Given the description of an element on the screen output the (x, y) to click on. 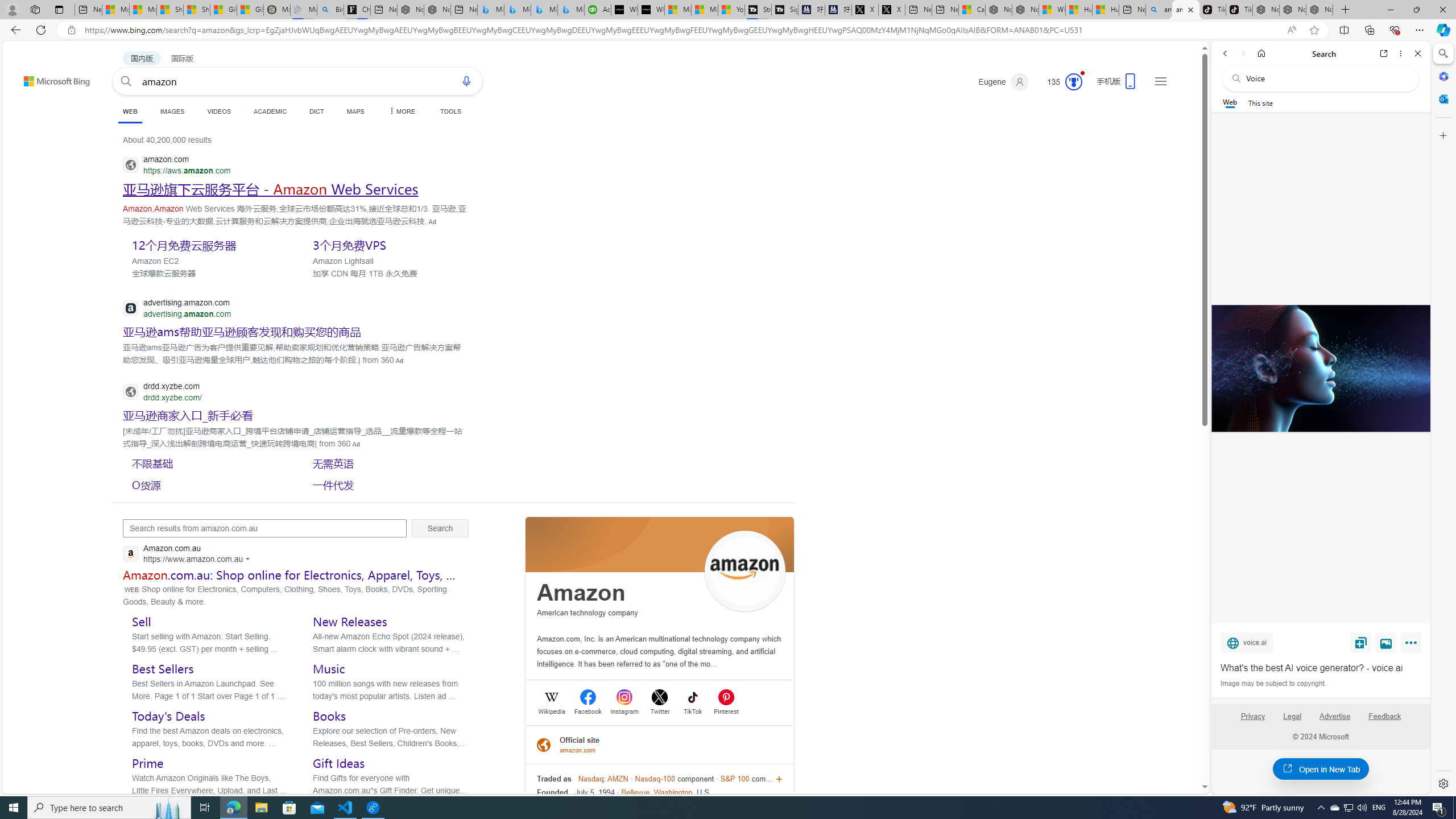
Facebook (587, 710)
ACADEMIC (269, 111)
Search the web (1326, 78)
MAPS (355, 111)
DICT (316, 111)
Advertise (1334, 720)
More options (1401, 53)
AutomationID: mfa_root (1161, 752)
What's the best AI voice generator? - voice.ai (651, 9)
amazon.com (579, 750)
Search using voice (465, 80)
